Given the description of an element on the screen output the (x, y) to click on. 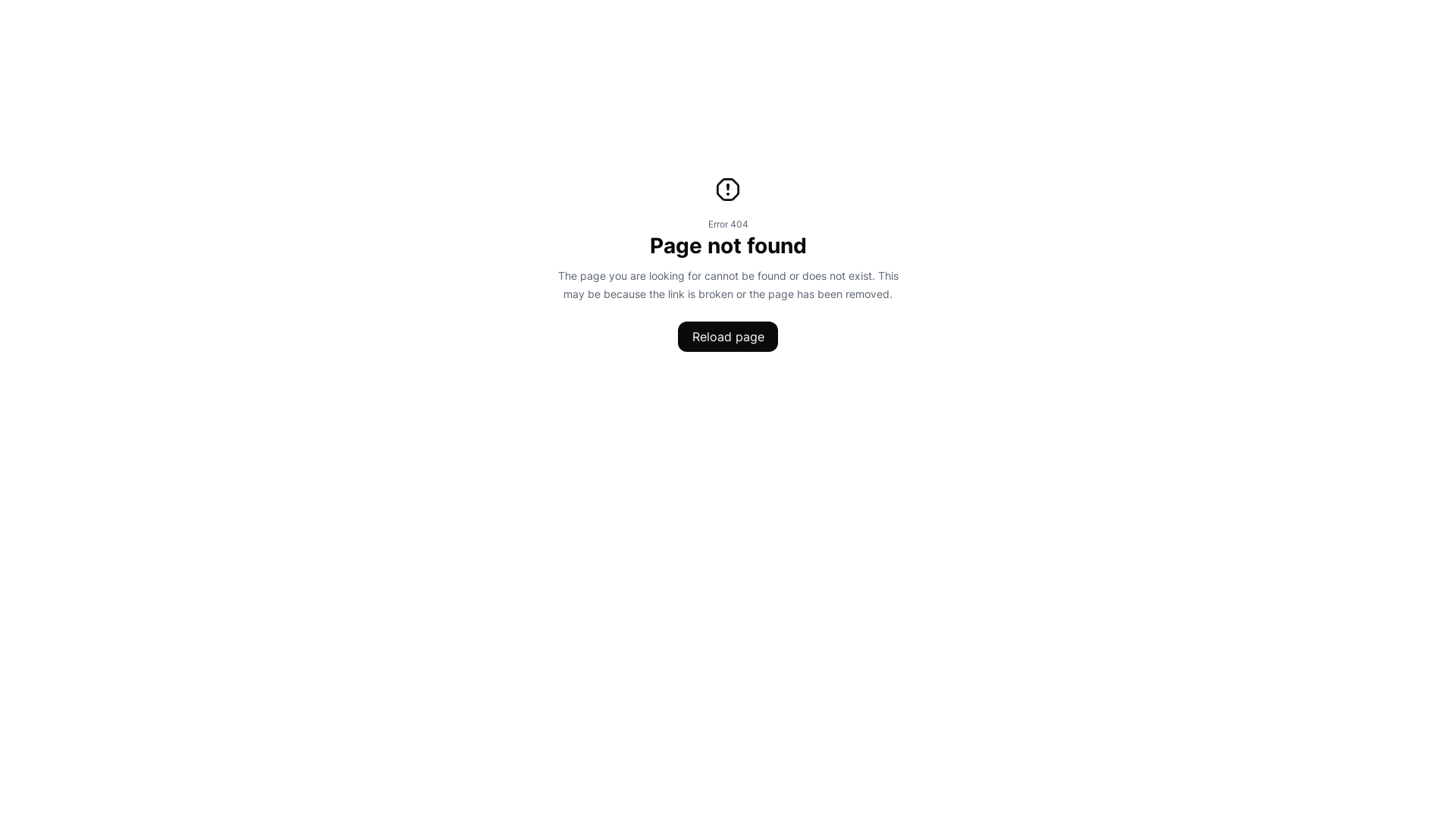
Reload page Element type: text (727, 336)
